Given the description of an element on the screen output the (x, y) to click on. 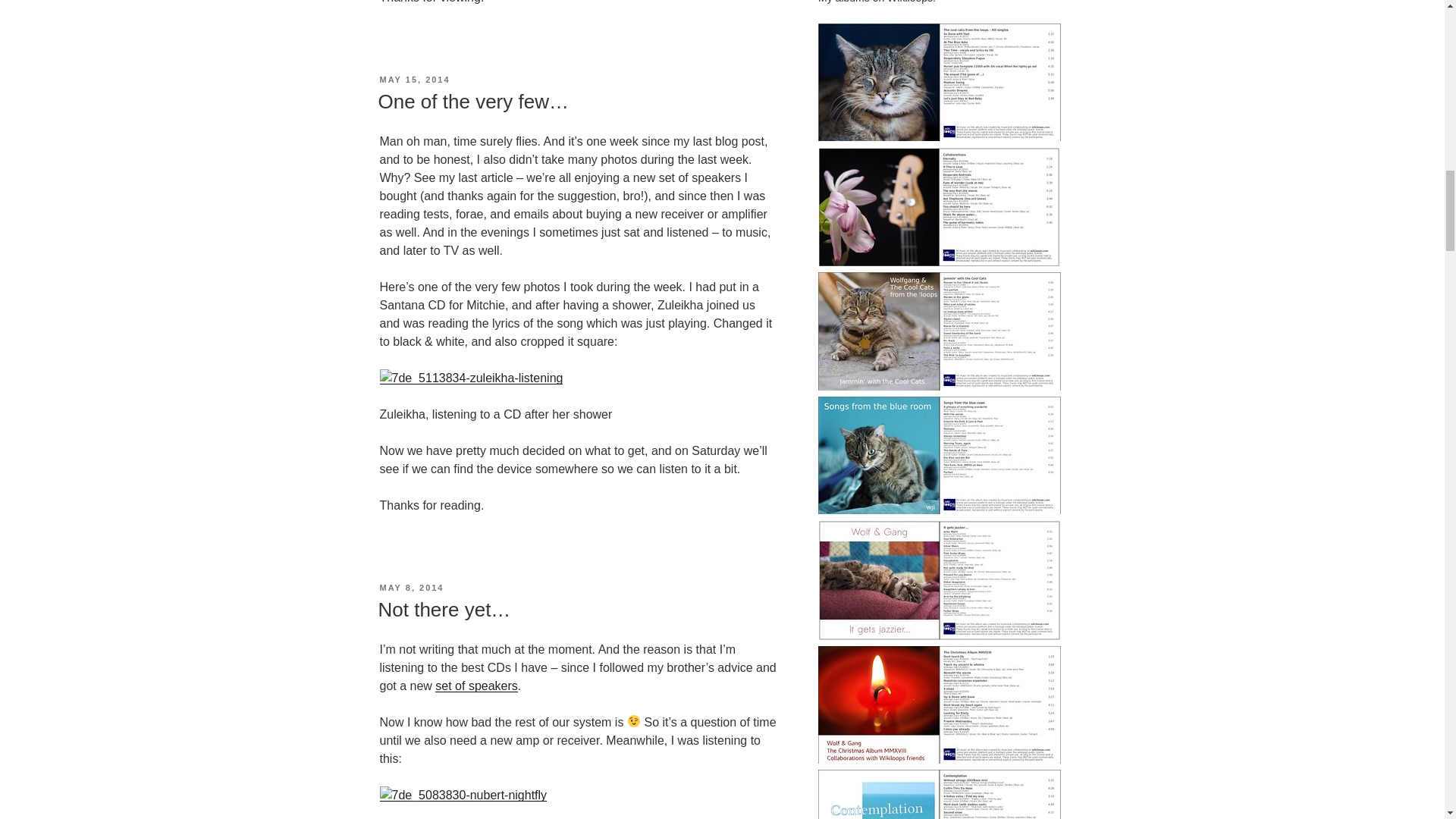
set of speakers (476, 685)
MAY 8, 2014 (411, 587)
MAY 15, 2014 (413, 79)
